Given the description of an element on the screen output the (x, y) to click on. 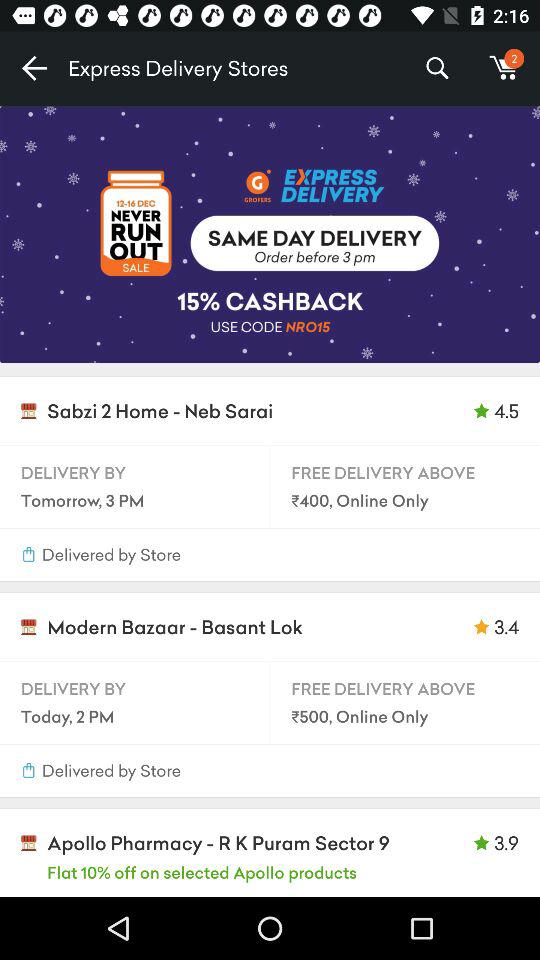
select the item to the left of m item (436, 67)
